Given the description of an element on the screen output the (x, y) to click on. 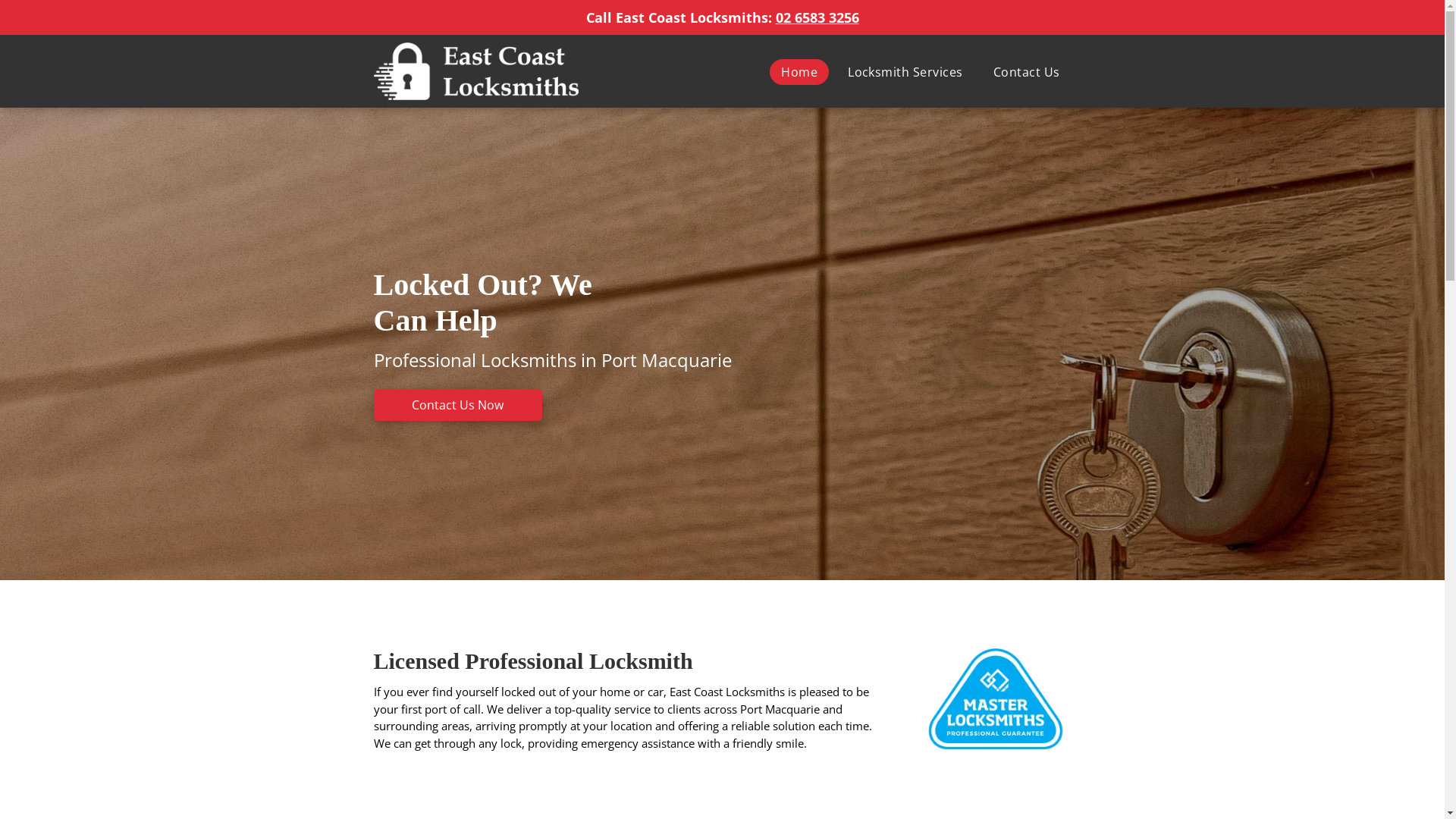
Locksmith Services Element type: text (905, 71)
02 6583 3256 Element type: text (816, 17)
Home Element type: text (798, 71)
Contact Us Element type: text (1026, 71)
Contact Us Now Element type: text (457, 404)
